Given the description of an element on the screen output the (x, y) to click on. 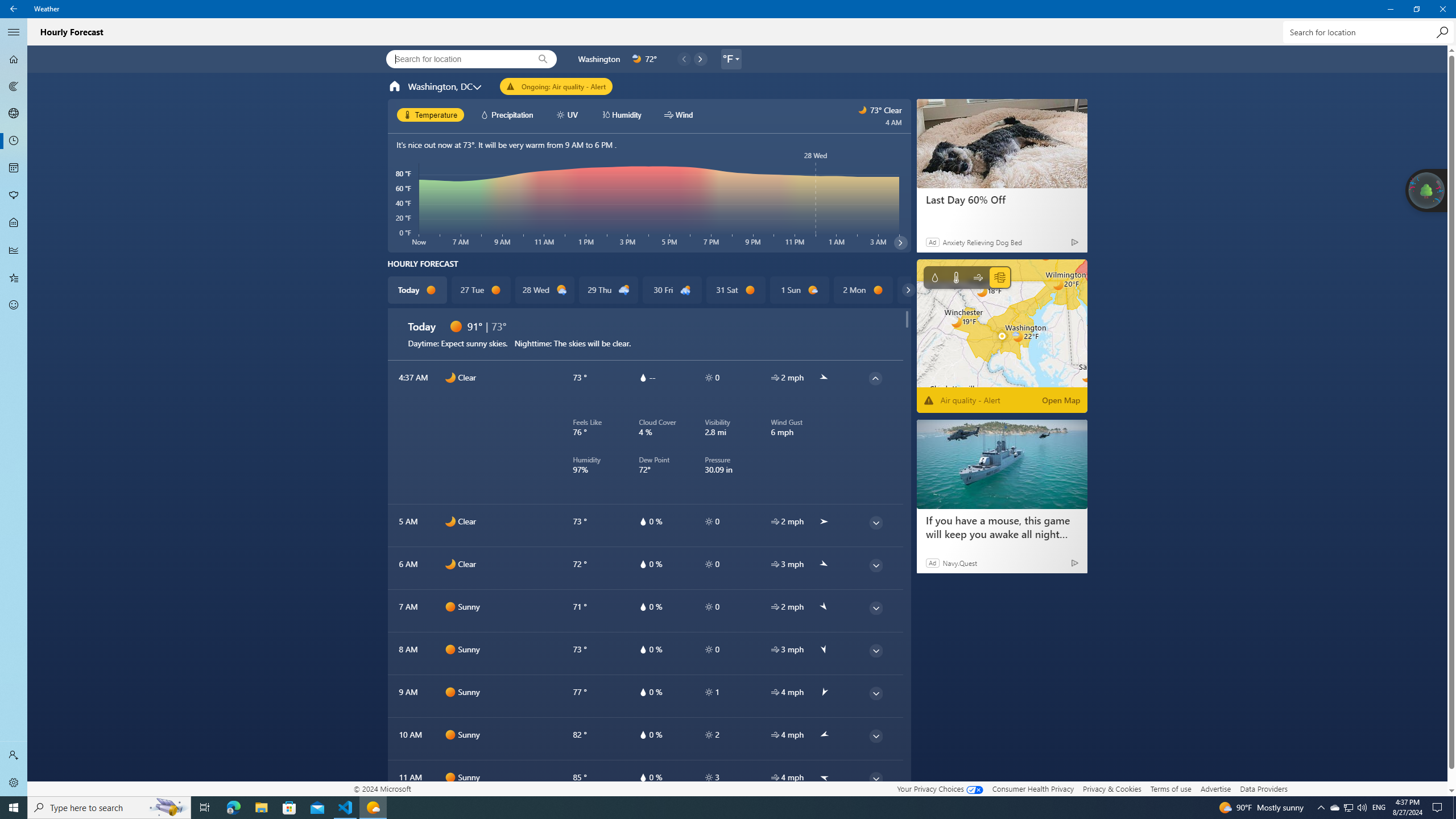
Show desktop (1454, 807)
Monthly Forecast - Not Selected (13, 167)
Life - Not Selected (13, 222)
User Promoted Notification Area (1347, 807)
Sign in (13, 755)
Historical Weather - Not Selected (13, 249)
Favorites - Not Selected (13, 277)
Minimize Weather (1390, 9)
Send Feedback - Not Selected (13, 304)
Search for location (1367, 32)
Start (13, 807)
Notification Chevron (1320, 807)
Monthly Forecast - Not Selected (13, 167)
